Given the description of an element on the screen output the (x, y) to click on. 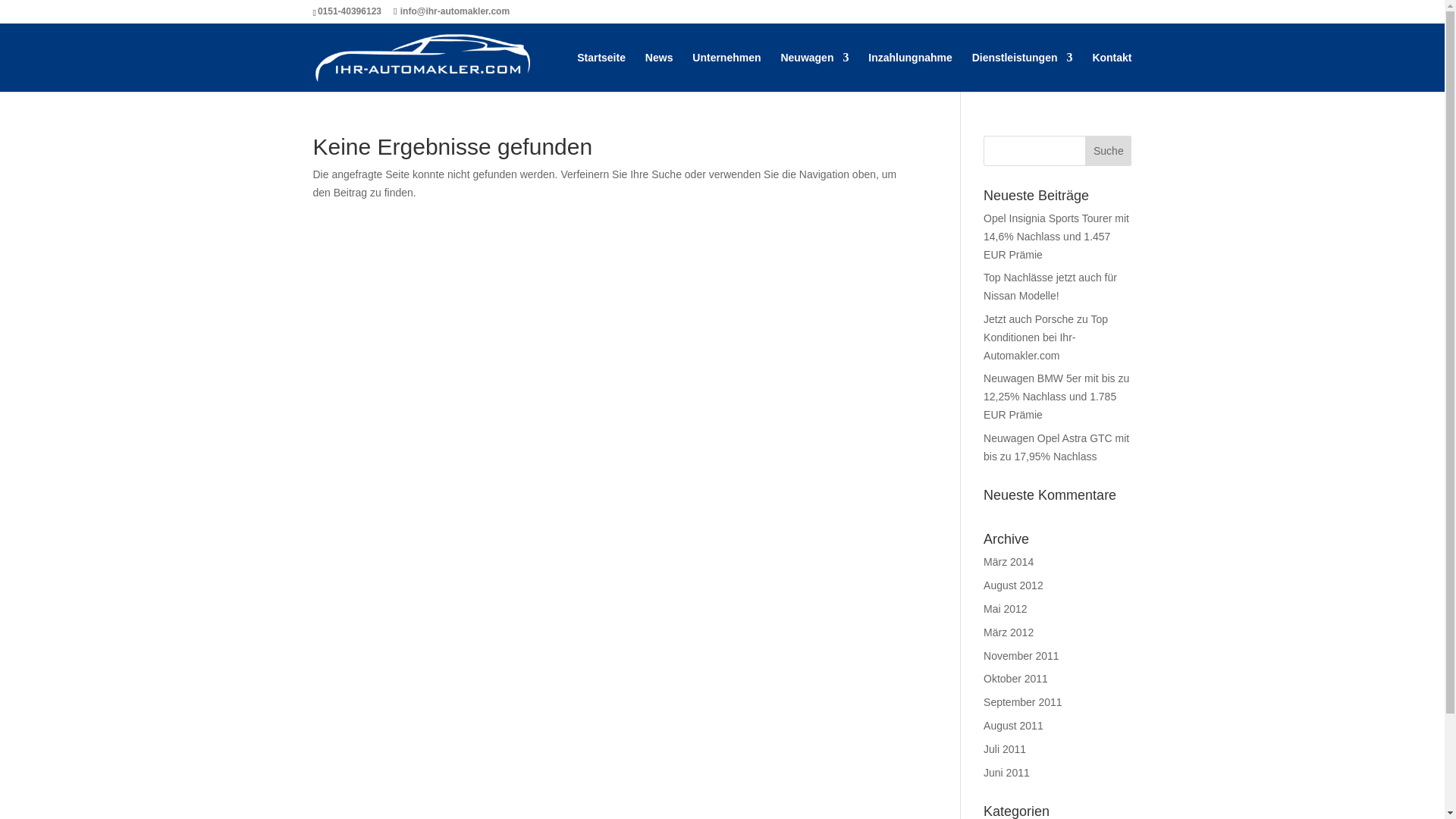
Startseite (601, 71)
Kontakt (1111, 71)
Suche (1107, 150)
Neuwagen (814, 71)
Unternehmen (726, 71)
Suche (1107, 150)
Inzahlungnahme (909, 71)
Jetzt auch Porsche zu Top Konditionen bei Ihr-Automakler.com (1046, 336)
Dienstleistungen (1022, 71)
